Given the description of an element on the screen output the (x, y) to click on. 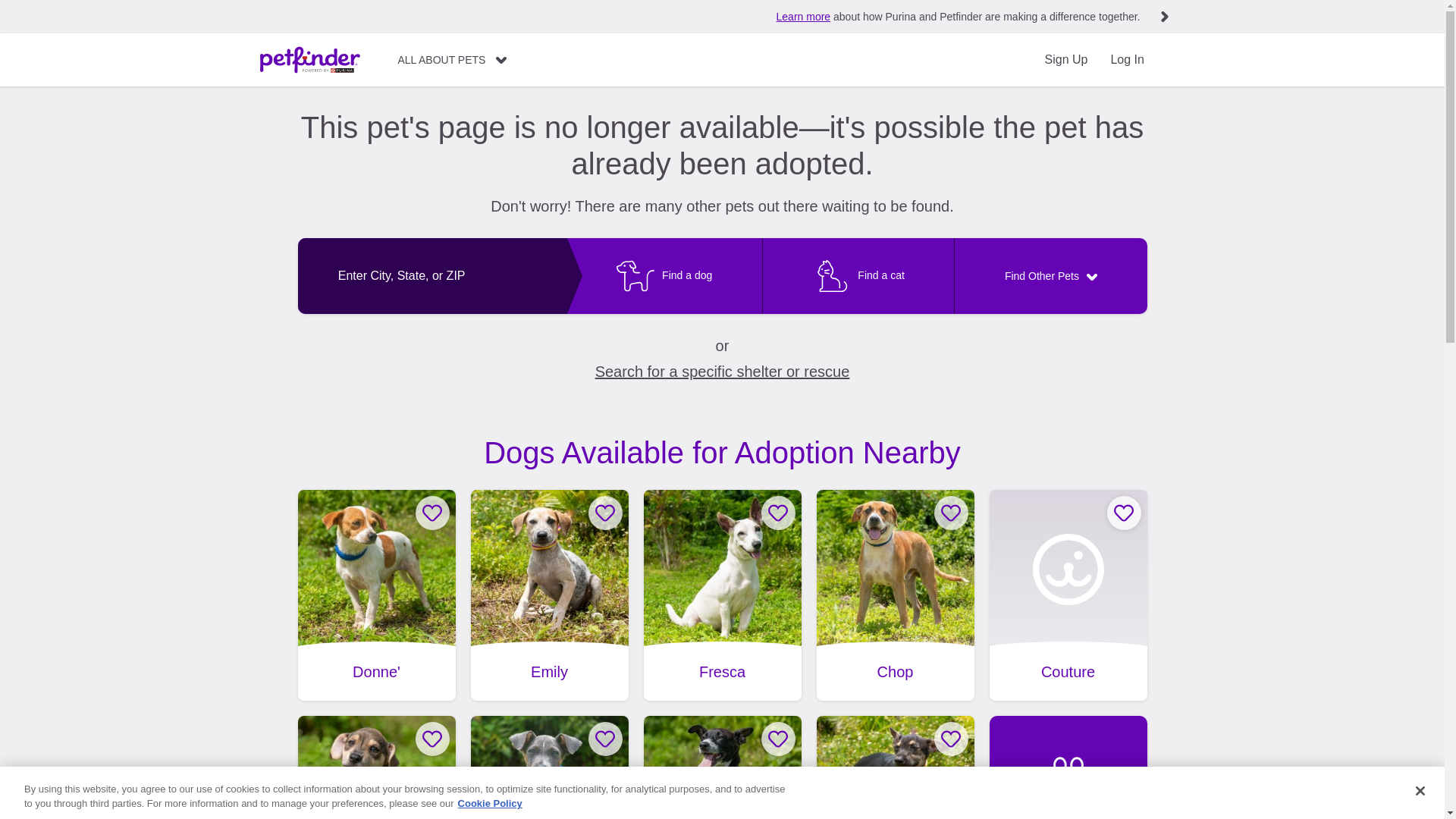
ALL ABOUT PETS (451, 60)
